Given the description of an element on the screen output the (x, y) to click on. 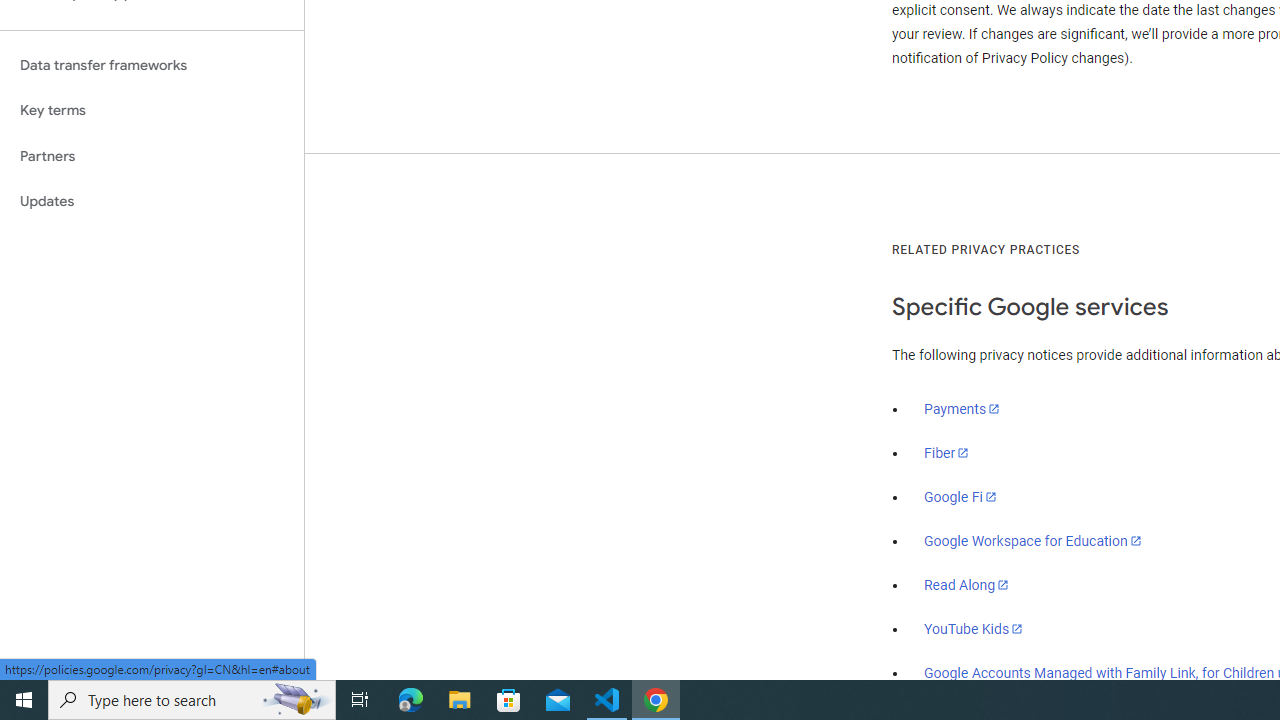
YouTube Kids (974, 628)
Google Fi (960, 497)
Payments (962, 409)
Google Workspace for Education (1032, 541)
Read Along (966, 585)
Fiber (947, 453)
